Given the description of an element on the screen output the (x, y) to click on. 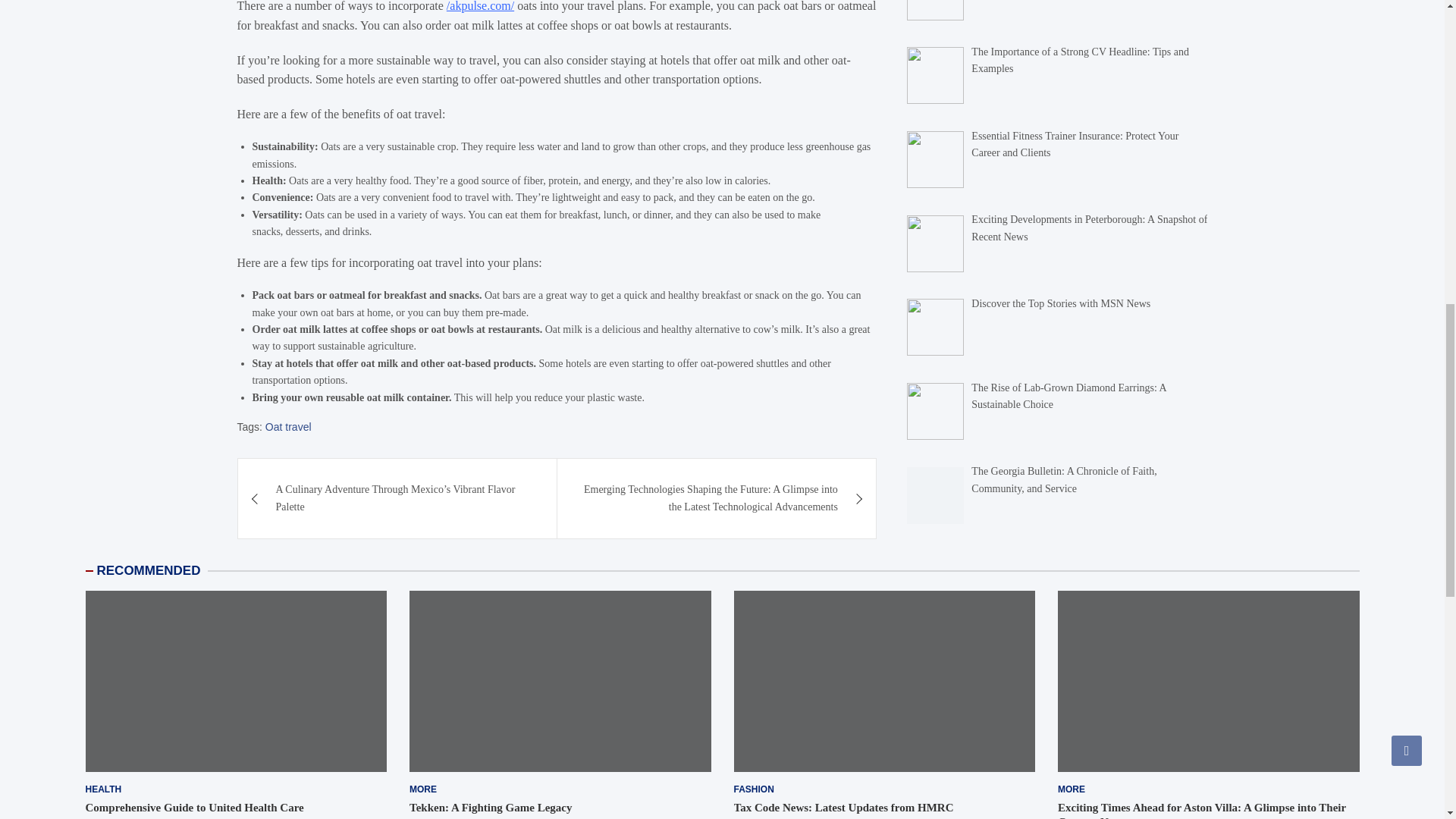
Oat travel (287, 426)
